Given the description of an element on the screen output the (x, y) to click on. 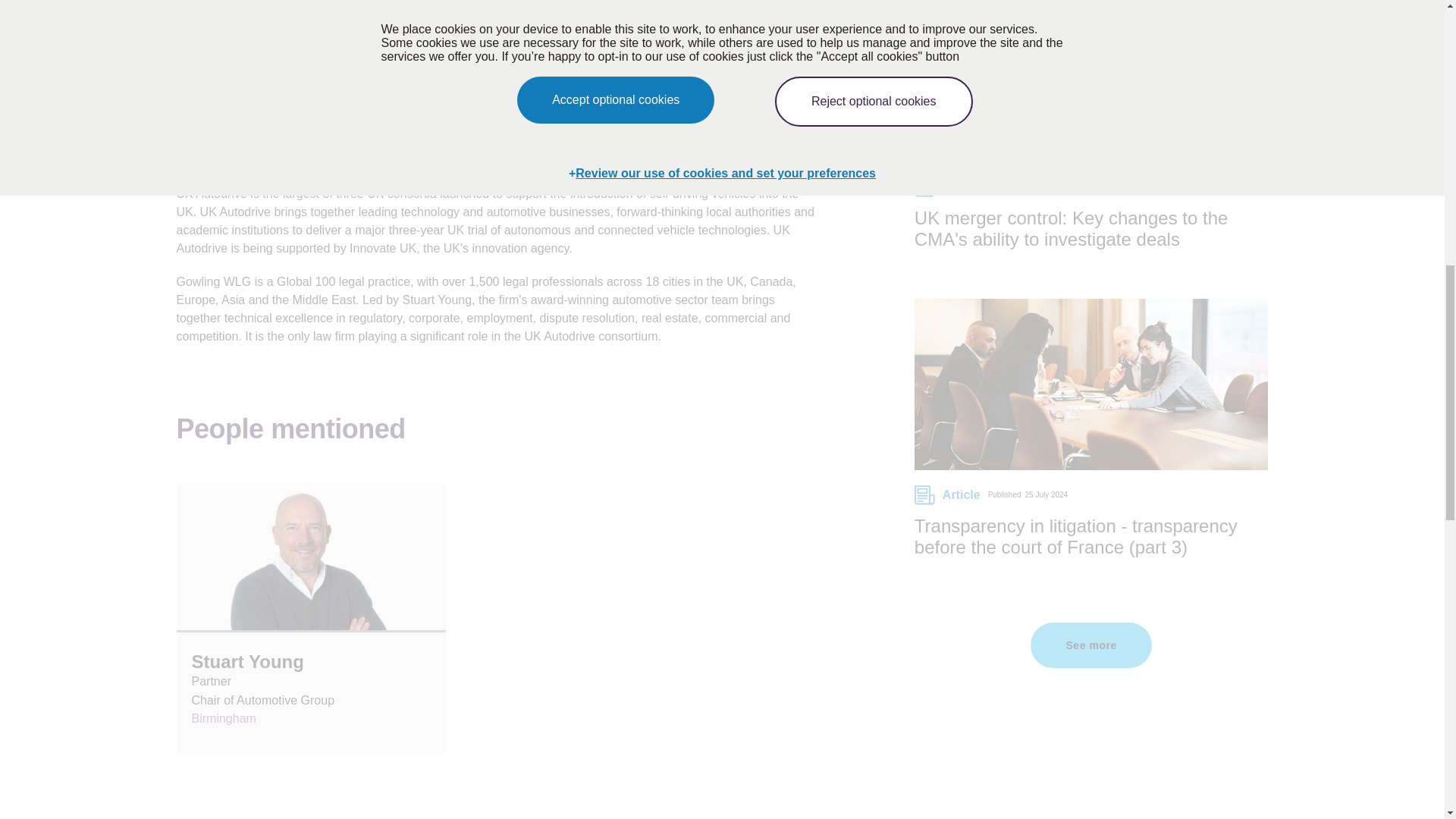
See more (1090, 645)
